Given the description of an element on the screen output the (x, y) to click on. 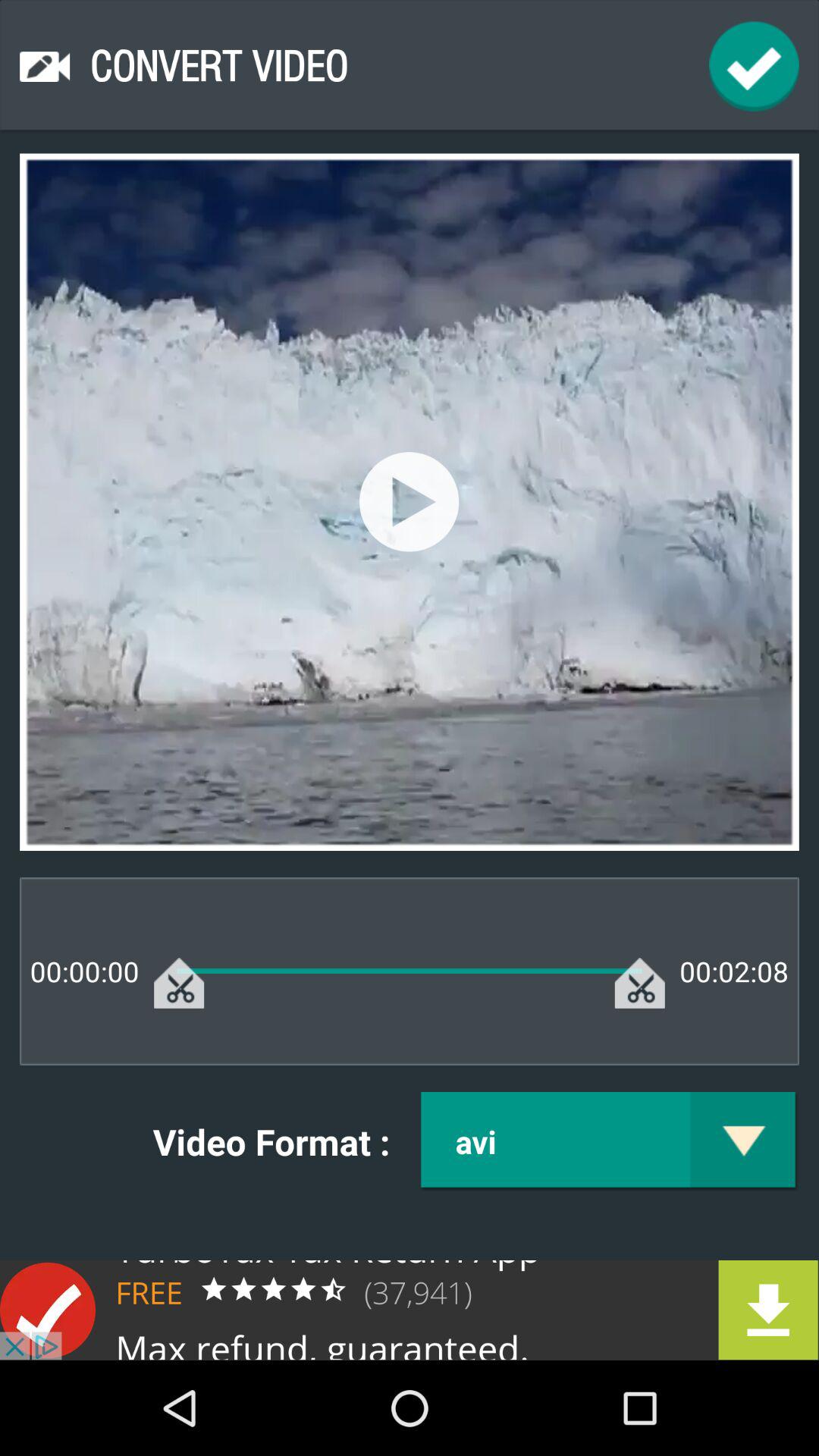
start video (408, 501)
